Given the description of an element on the screen output the (x, y) to click on. 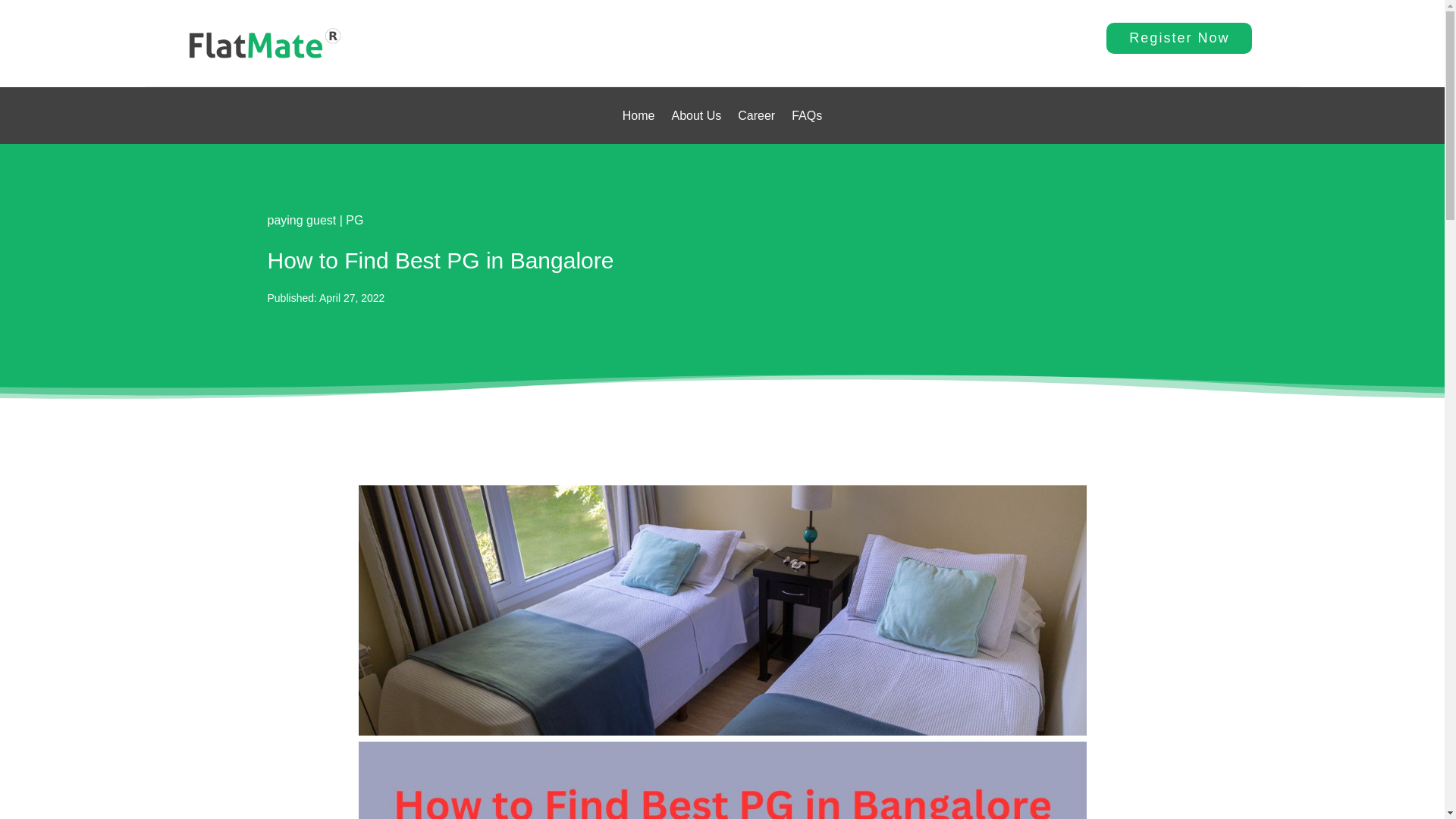
Home (639, 118)
PG (354, 219)
Career (756, 118)
FAQs (807, 118)
Register Now (1179, 38)
About Us (695, 118)
FlatMate-Logo (263, 42)
paying guest (301, 219)
